Given the description of an element on the screen output the (x, y) to click on. 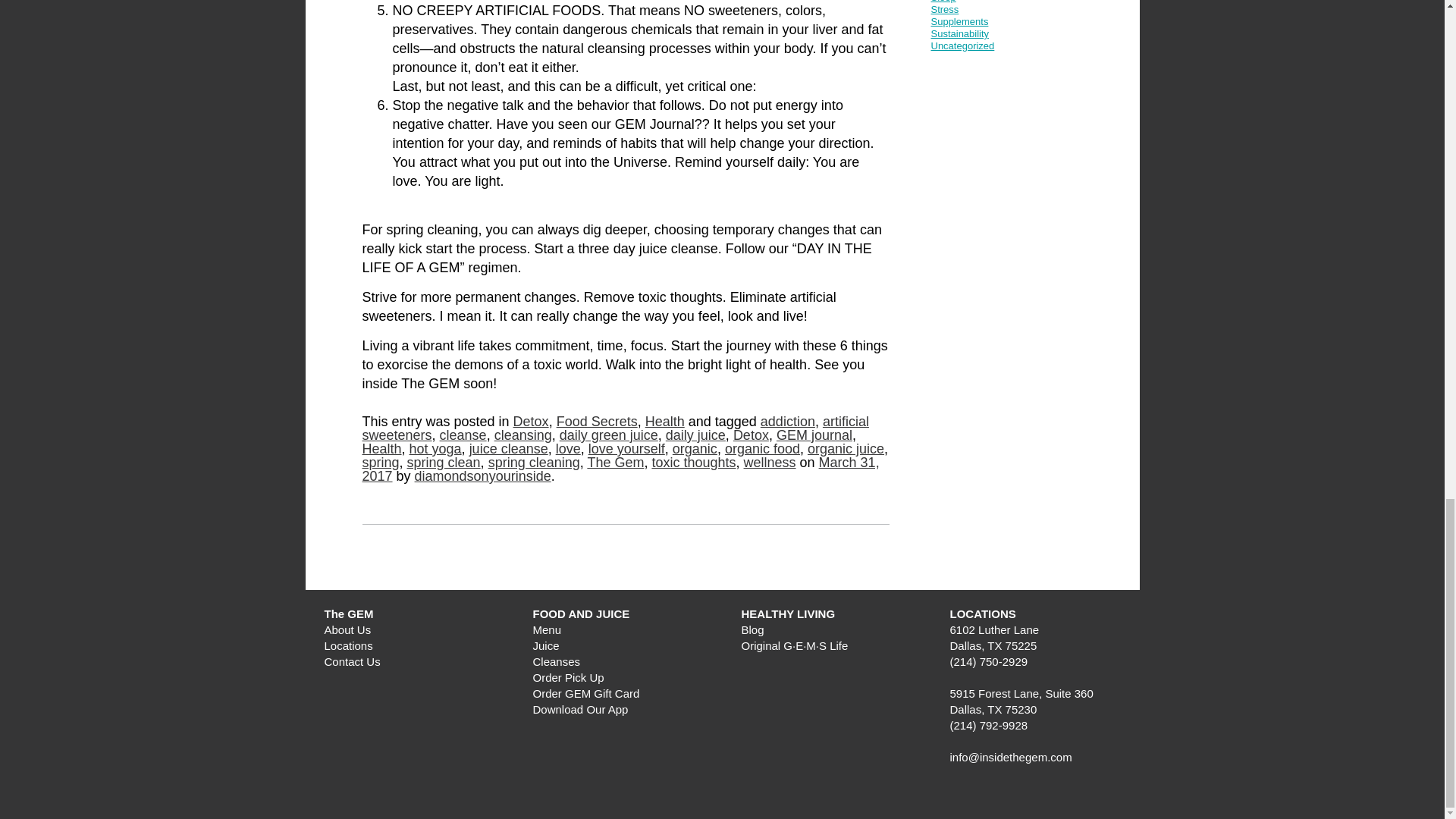
daily juice (695, 435)
organic juice (845, 448)
Detox (530, 421)
Health (381, 448)
View all posts by diamondsonyourinside (482, 476)
organic (694, 448)
cleanse (462, 435)
love (568, 448)
5:00 am (620, 469)
Health (664, 421)
GEM journal (813, 435)
cleansing (523, 435)
spring (380, 462)
Food Secrets (596, 421)
Detox (750, 435)
